Given the description of an element on the screen output the (x, y) to click on. 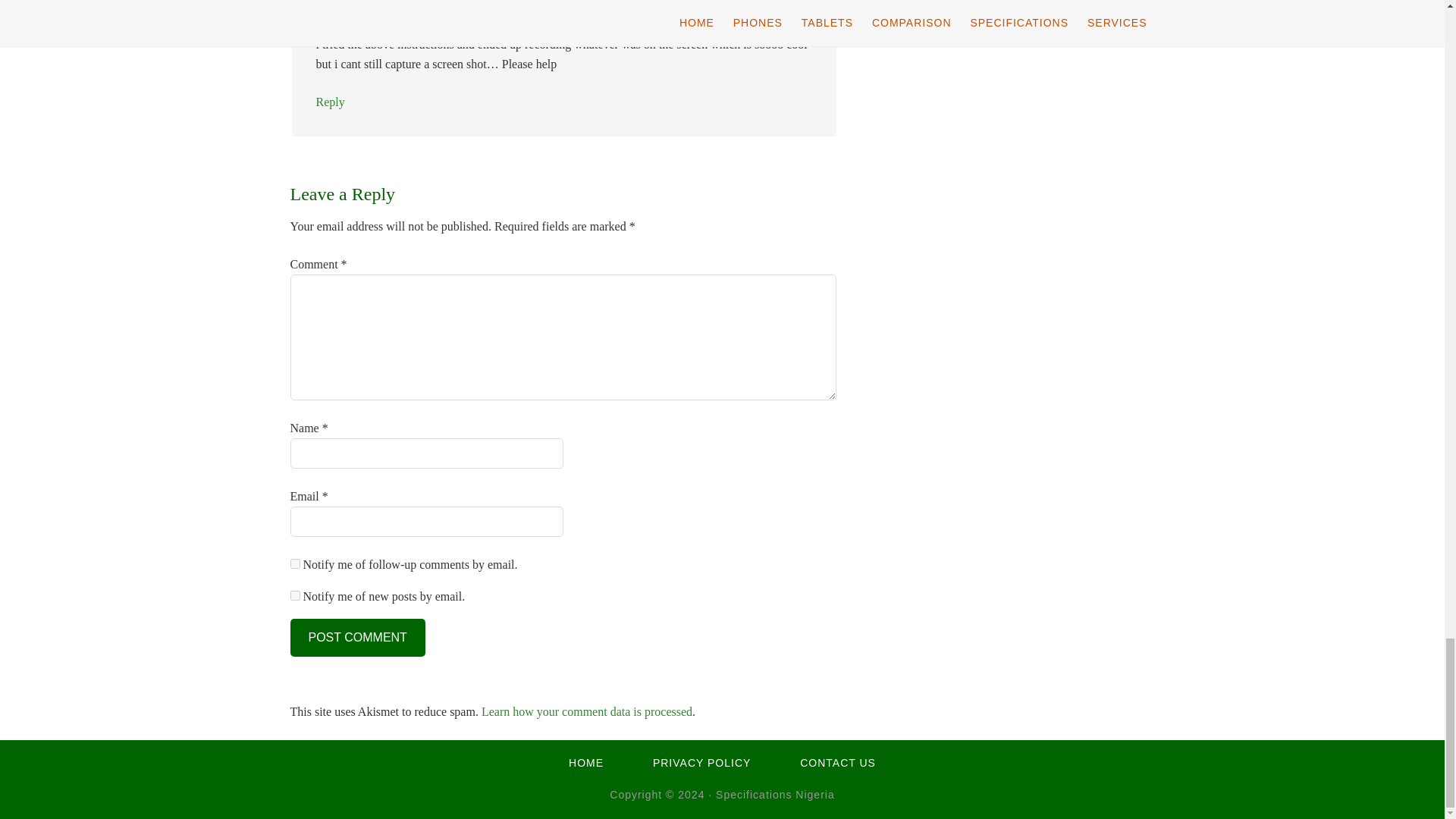
subscribe (294, 563)
Post Comment (357, 637)
subscribe (294, 595)
